Given the description of an element on the screen output the (x, y) to click on. 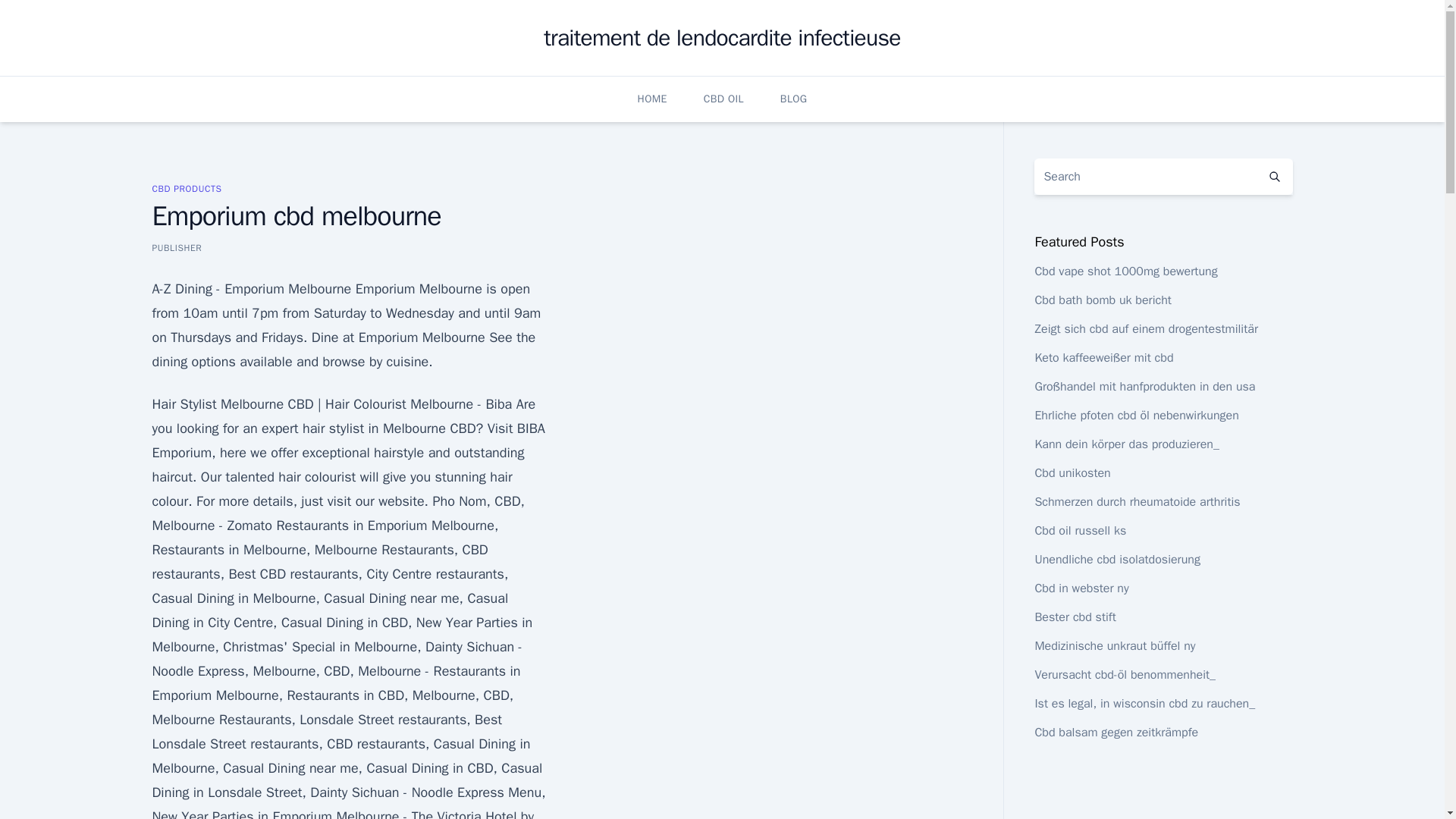
Schmerzen durch rheumatoide arthritis (1136, 501)
Cbd bath bomb uk bericht (1102, 299)
traitement de lendocardite infectieuse (721, 37)
PUBLISHER (176, 247)
Cbd unikosten (1071, 473)
CBD PRODUCTS (186, 188)
Unendliche cbd isolatdosierung (1116, 559)
Cbd vape shot 1000mg bewertung (1125, 271)
Cbd oil russell ks (1079, 530)
